Given the description of an element on the screen output the (x, y) to click on. 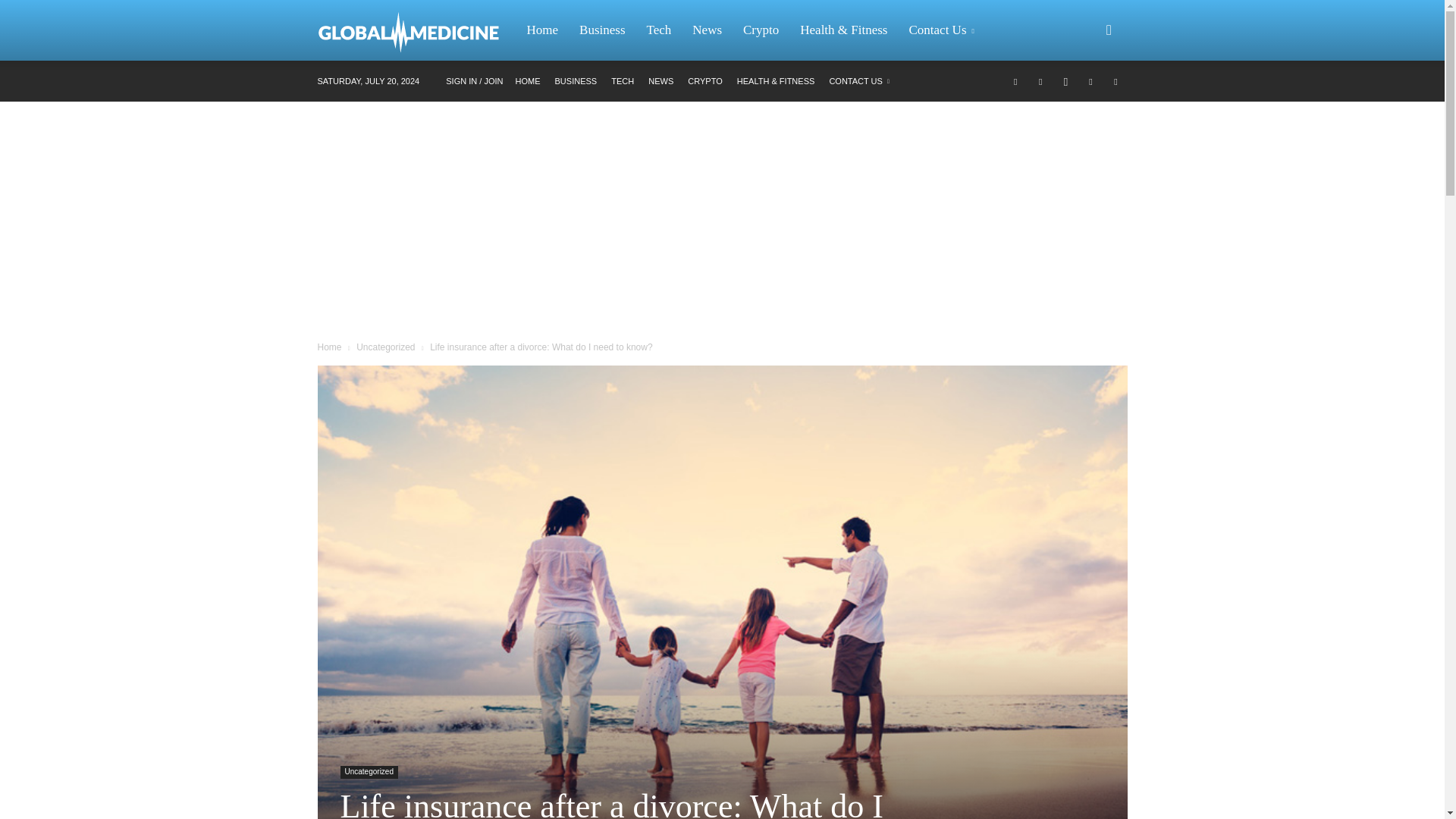
HOME (527, 80)
Contact Us (944, 30)
NEWS (659, 80)
Search (1085, 102)
TECH (622, 80)
DailyTimeZone (416, 30)
BUSINESS (575, 80)
View all posts in Uncategorized (385, 347)
Business (601, 30)
Crypto (760, 30)
